Given the description of an element on the screen output the (x, y) to click on. 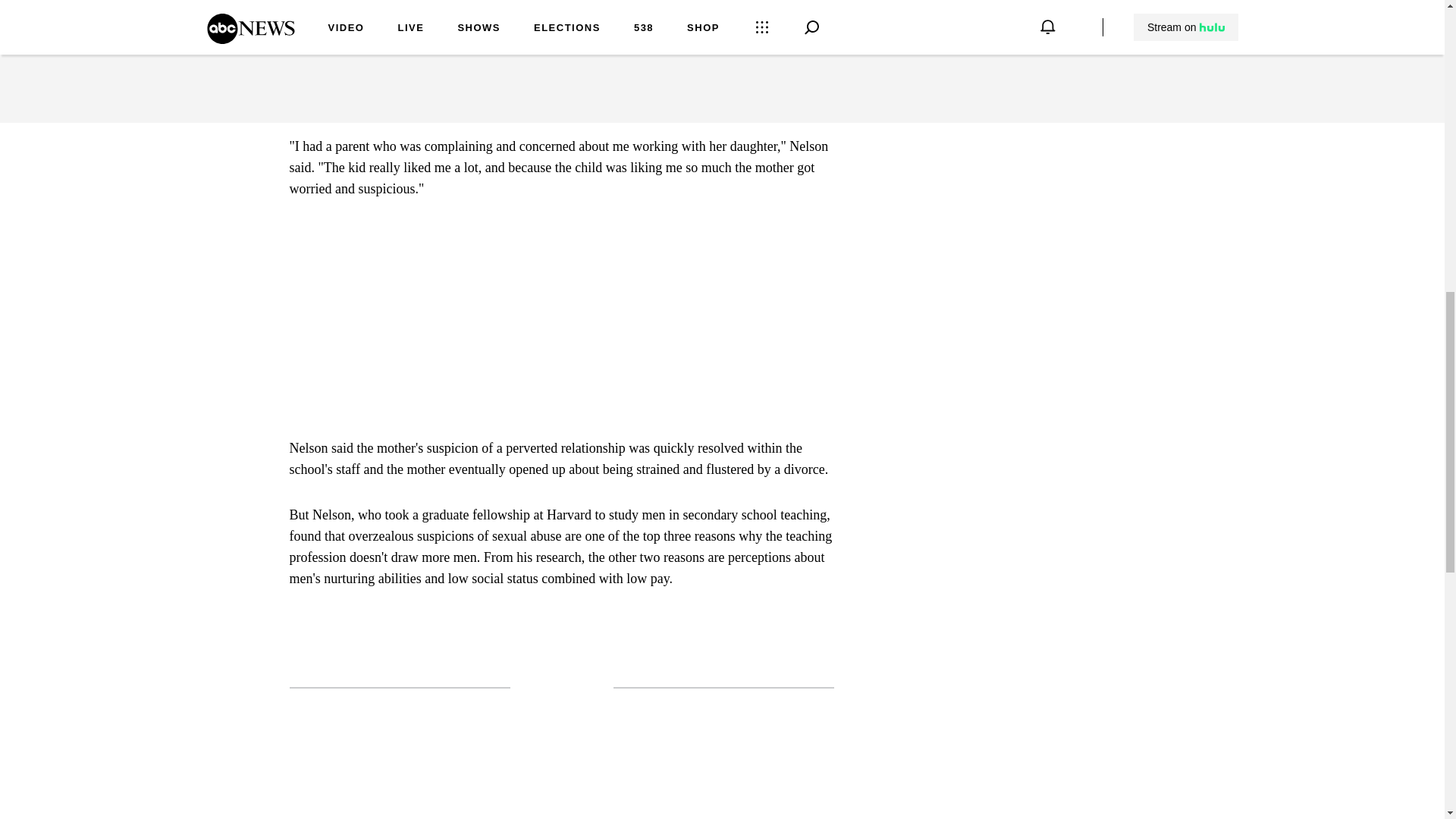
MenTeach (535, 79)
